Given the description of an element on the screen output the (x, y) to click on. 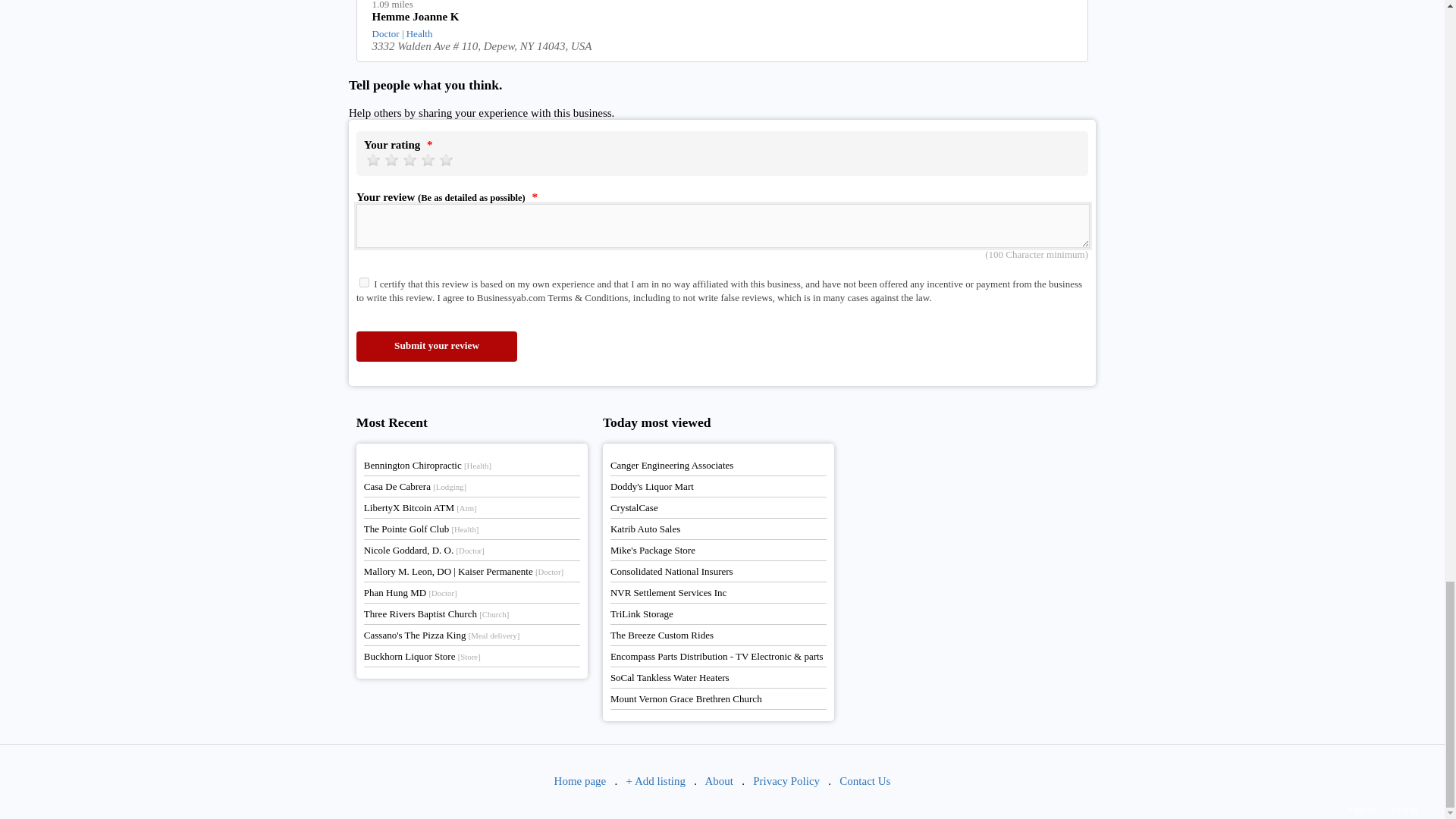
Submit your review (436, 346)
Hemme Joanne K (722, 18)
Katrib Auto Sales (644, 528)
true (364, 282)
Doddy's Liquor Mart (652, 486)
CrystalCase (634, 507)
Canger Engineering Associates (671, 464)
